Given the description of an element on the screen output the (x, y) to click on. 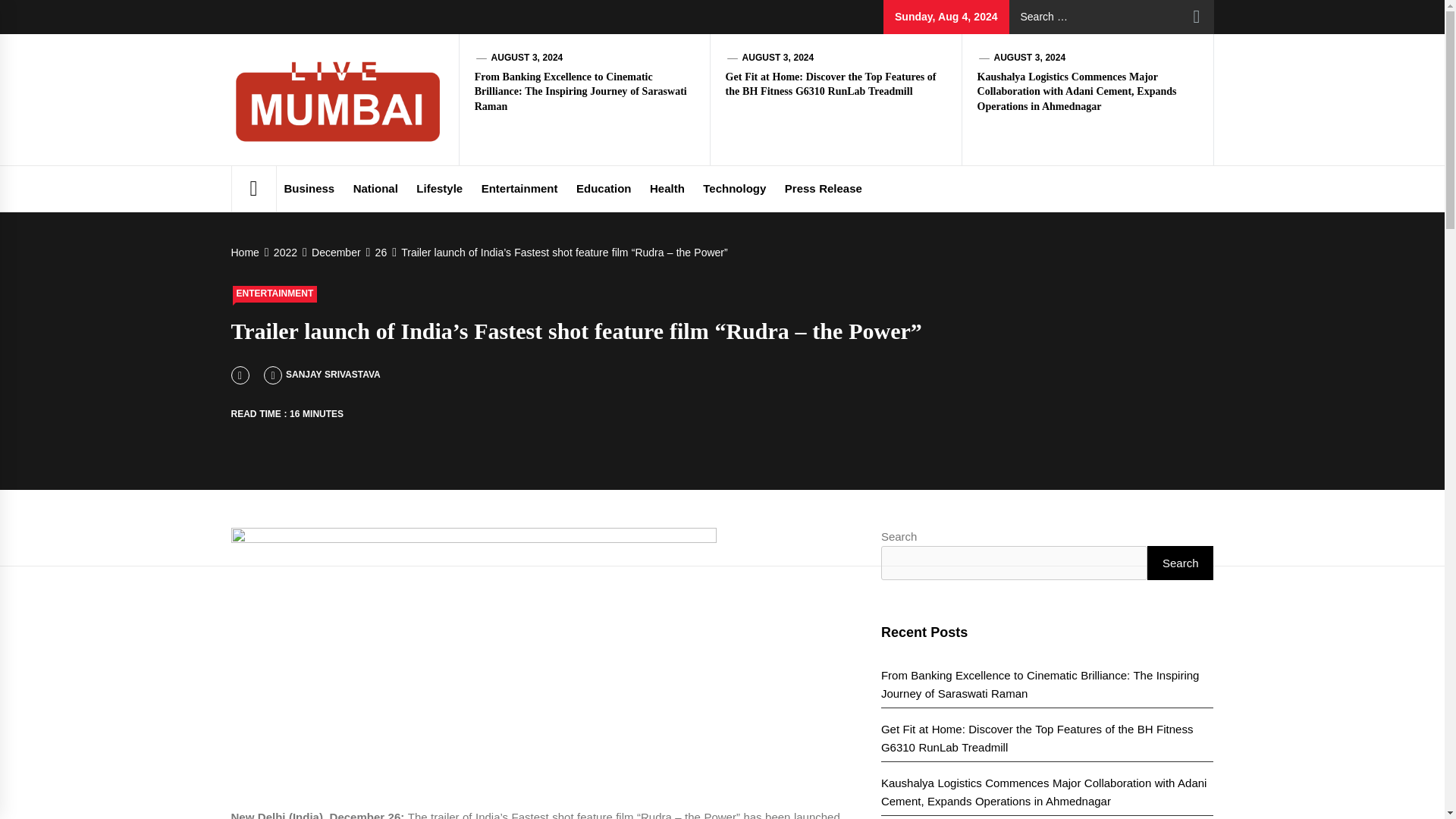
Search (1196, 17)
Business (309, 188)
Lifestyle (439, 188)
2022 (283, 252)
Live Mumbai (502, 86)
Search (1196, 17)
Health (667, 188)
Education (604, 188)
26 (379, 252)
Technology (734, 188)
AUGUST 3, 2024 (777, 57)
AUGUST 3, 2024 (1028, 57)
Entertainment (520, 188)
